Given the description of an element on the screen output the (x, y) to click on. 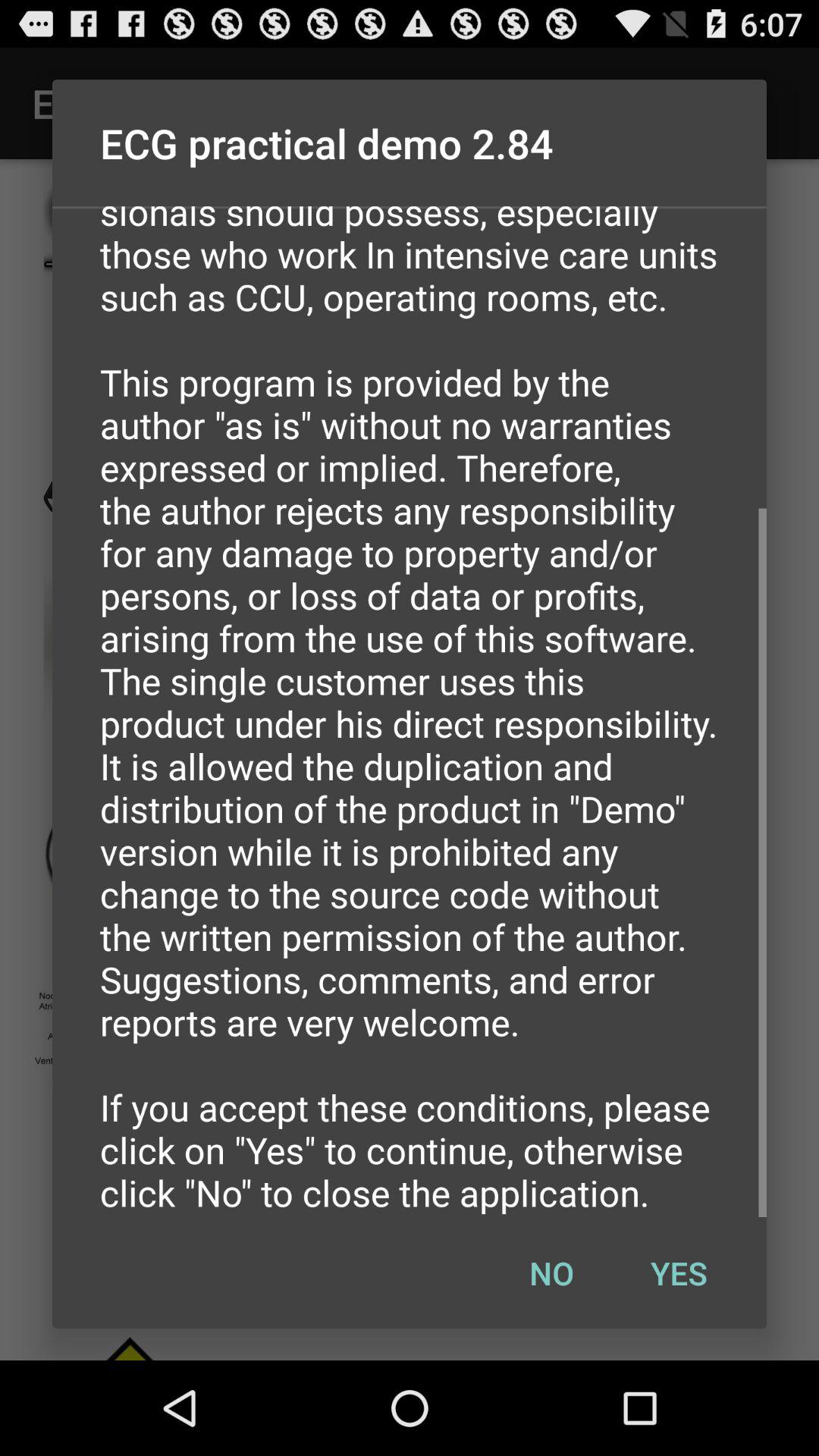
scroll until no icon (551, 1272)
